Given the description of an element on the screen output the (x, y) to click on. 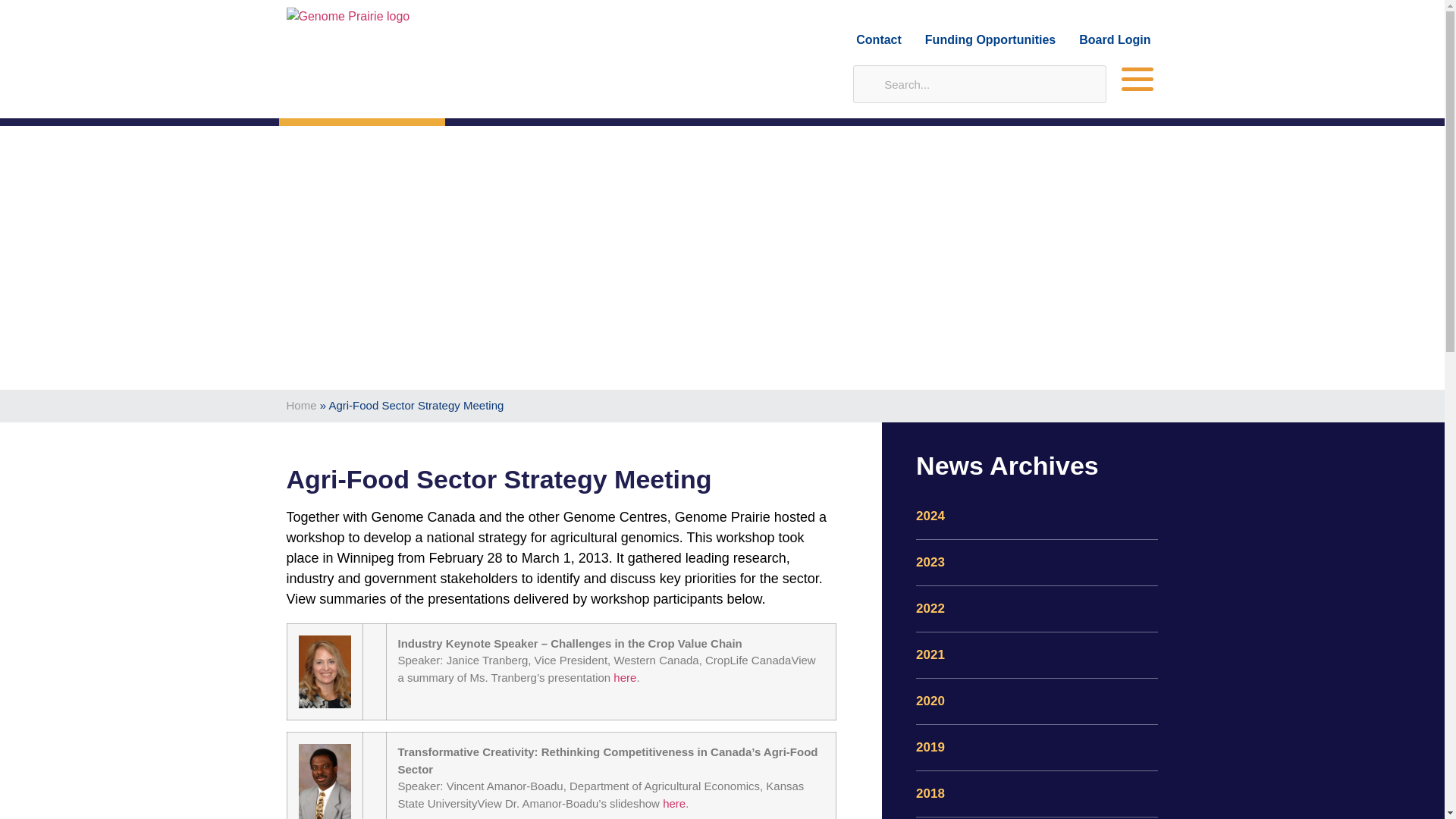
here (673, 802)
Board Login (1114, 39)
Funding Opportunities (989, 39)
Home (301, 404)
Contact (878, 39)
here (624, 676)
